Given the description of an element on the screen output the (x, y) to click on. 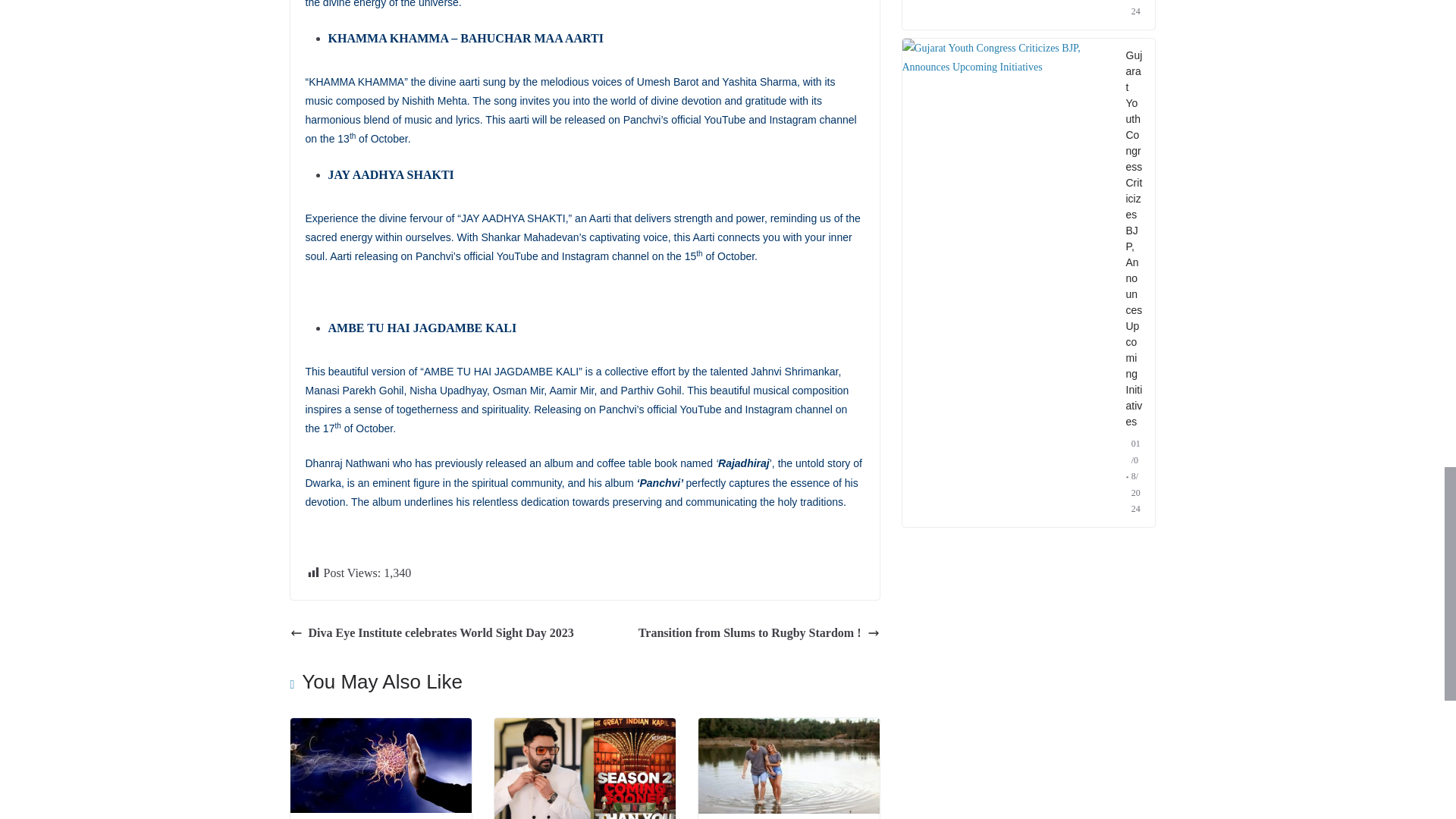
Diva Eye Institute celebrates World Sight Day 2023 (431, 633)
Transition from Slums to Rugby Stardom ! (759, 633)
